Given the description of an element on the screen output the (x, y) to click on. 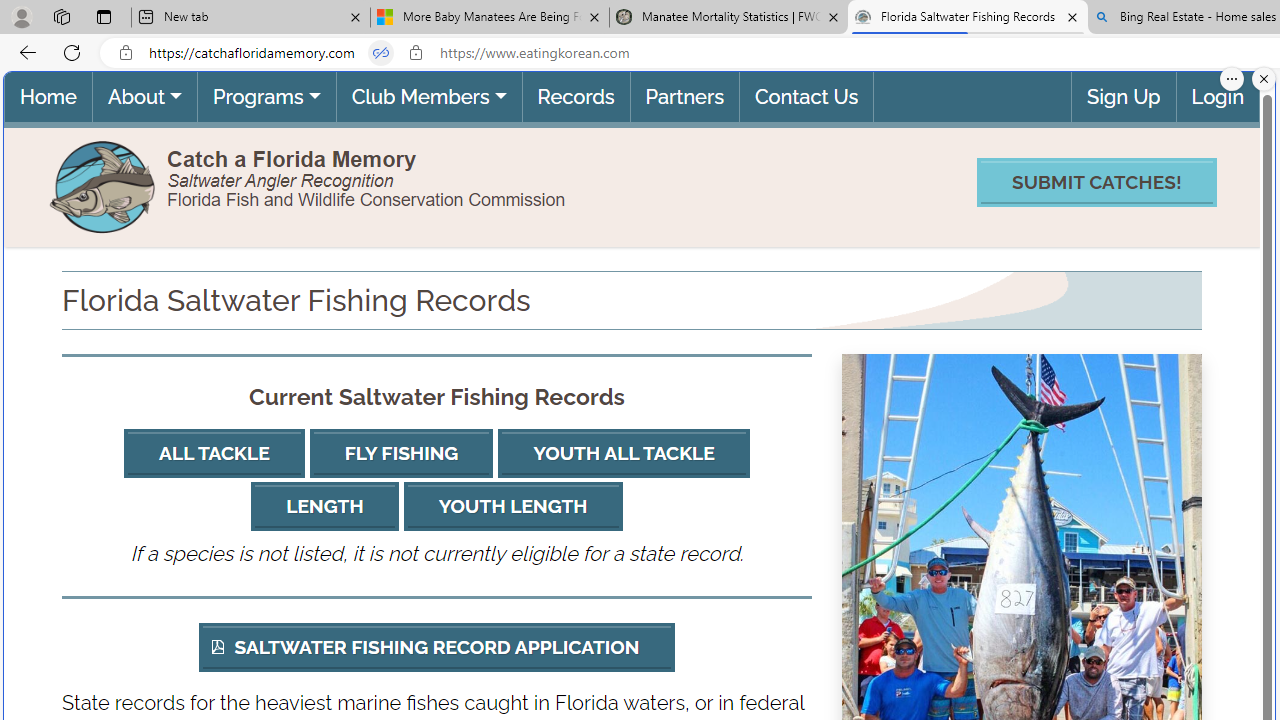
Close split screen. (1264, 79)
About (144, 96)
YOUTH ALL TACKLE (623, 453)
LENGTH (324, 506)
Florida Saltwater Fishing Records (967, 17)
Manatee Mortality Statistics | FWC (729, 17)
Catch A Florida Memory Logo (104, 183)
Club Members (428, 96)
Tabs in split screen (381, 53)
Records (574, 96)
